Given the description of an element on the screen output the (x, y) to click on. 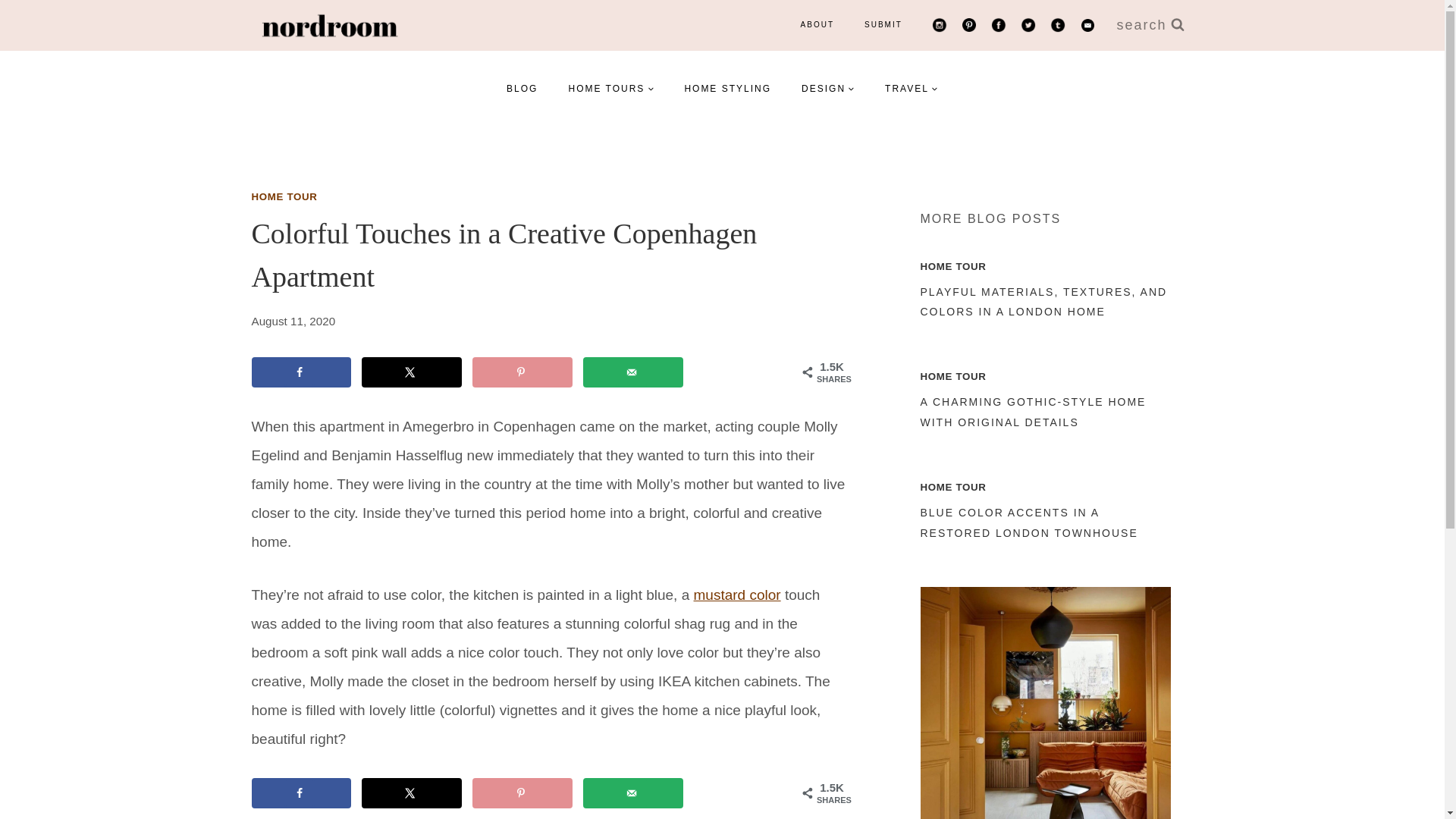
Send over email (632, 372)
HOME STYLING (727, 87)
ABOUT (817, 24)
BLOG (522, 87)
TRAVEL (911, 87)
Share on X (411, 372)
HOME TOURS (610, 87)
Share on Facebook (301, 793)
Share on X (411, 793)
Save to Pinterest (521, 372)
